Given the description of an element on the screen output the (x, y) to click on. 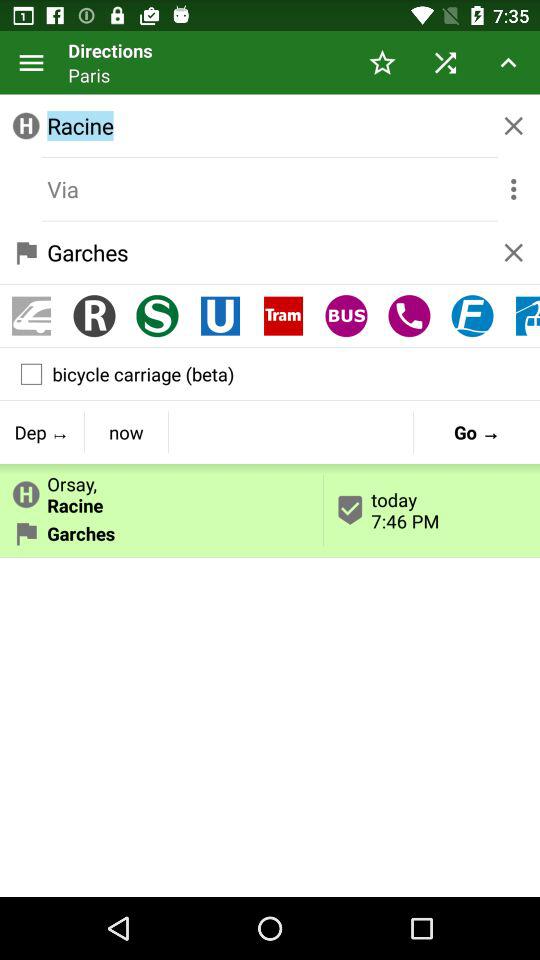
select item above the orsay,
racine (126, 431)
